Given the description of an element on the screen output the (x, y) to click on. 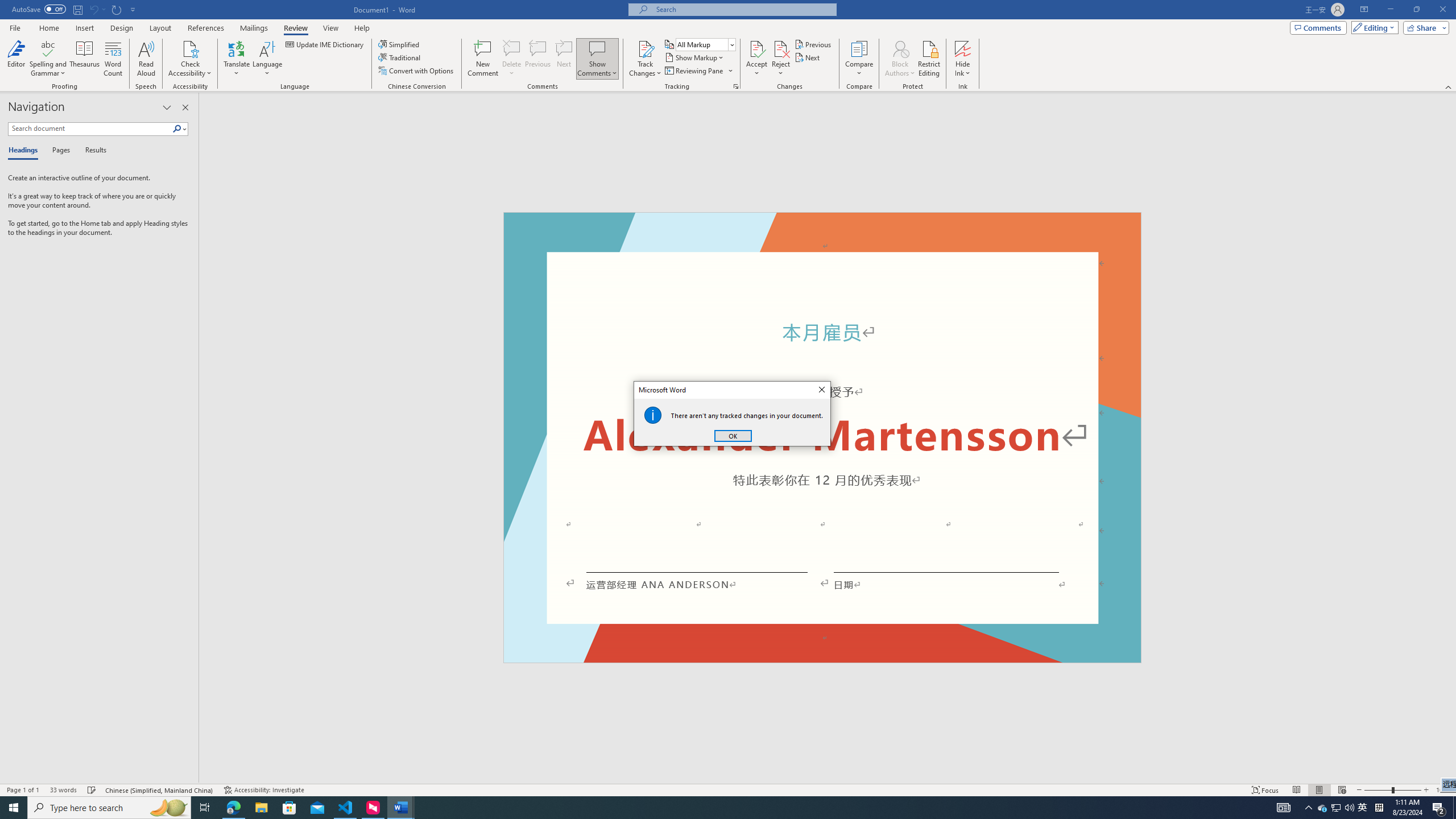
Class: MsoCommandBar (728, 789)
Action Center, 2 new notifications (1439, 807)
Block Authors (900, 48)
Spelling and Grammar Check Checking (91, 790)
Microsoft Edge - 1 running window (233, 807)
Reviewing Pane (694, 69)
Accept and Move to Next (756, 48)
Word - 2 running windows (400, 807)
Hide Ink (962, 58)
Accept (756, 58)
Simplified (400, 44)
